Given the description of an element on the screen output the (x, y) to click on. 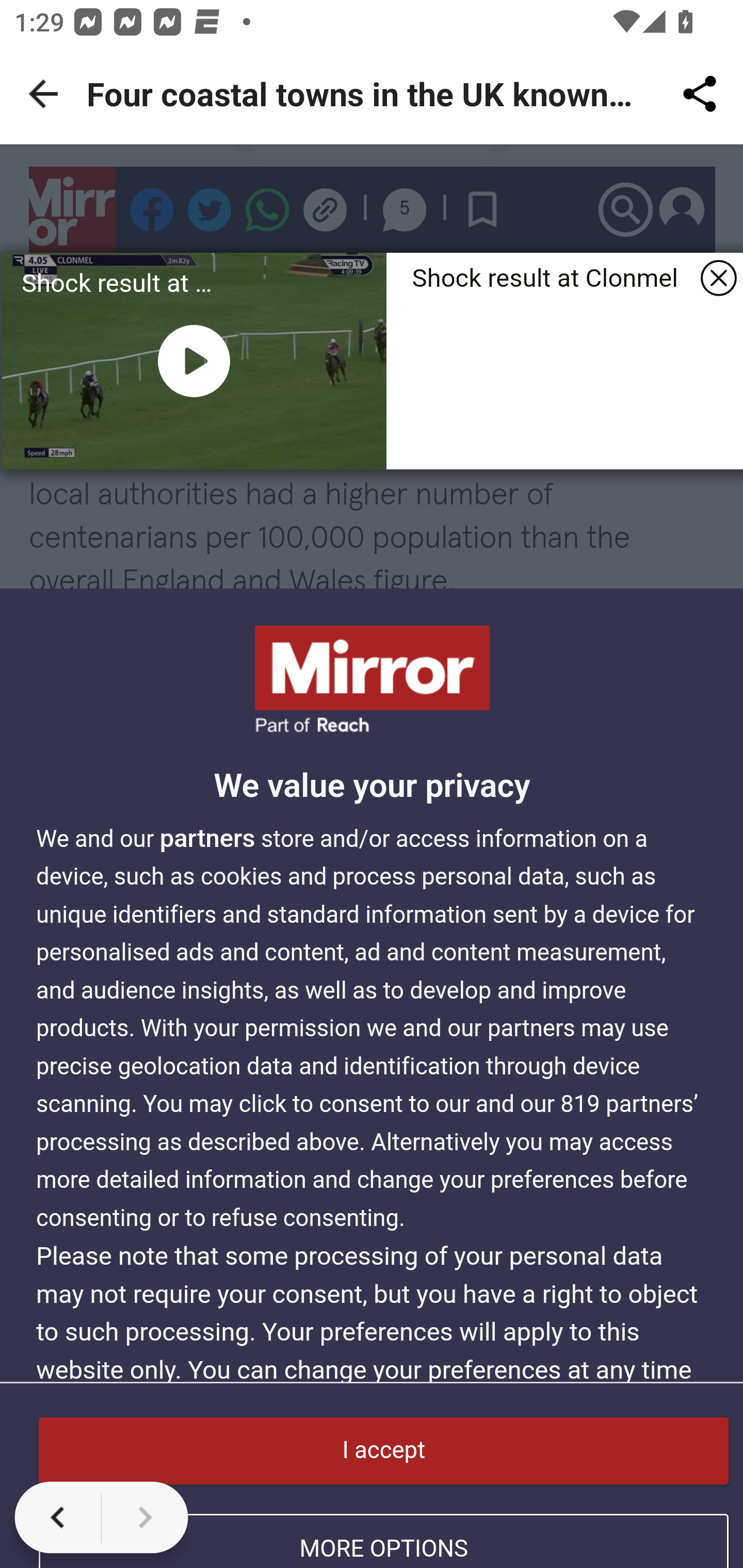
Unable to play media. (193, 361)
